Given the description of an element on the screen output the (x, y) to click on. 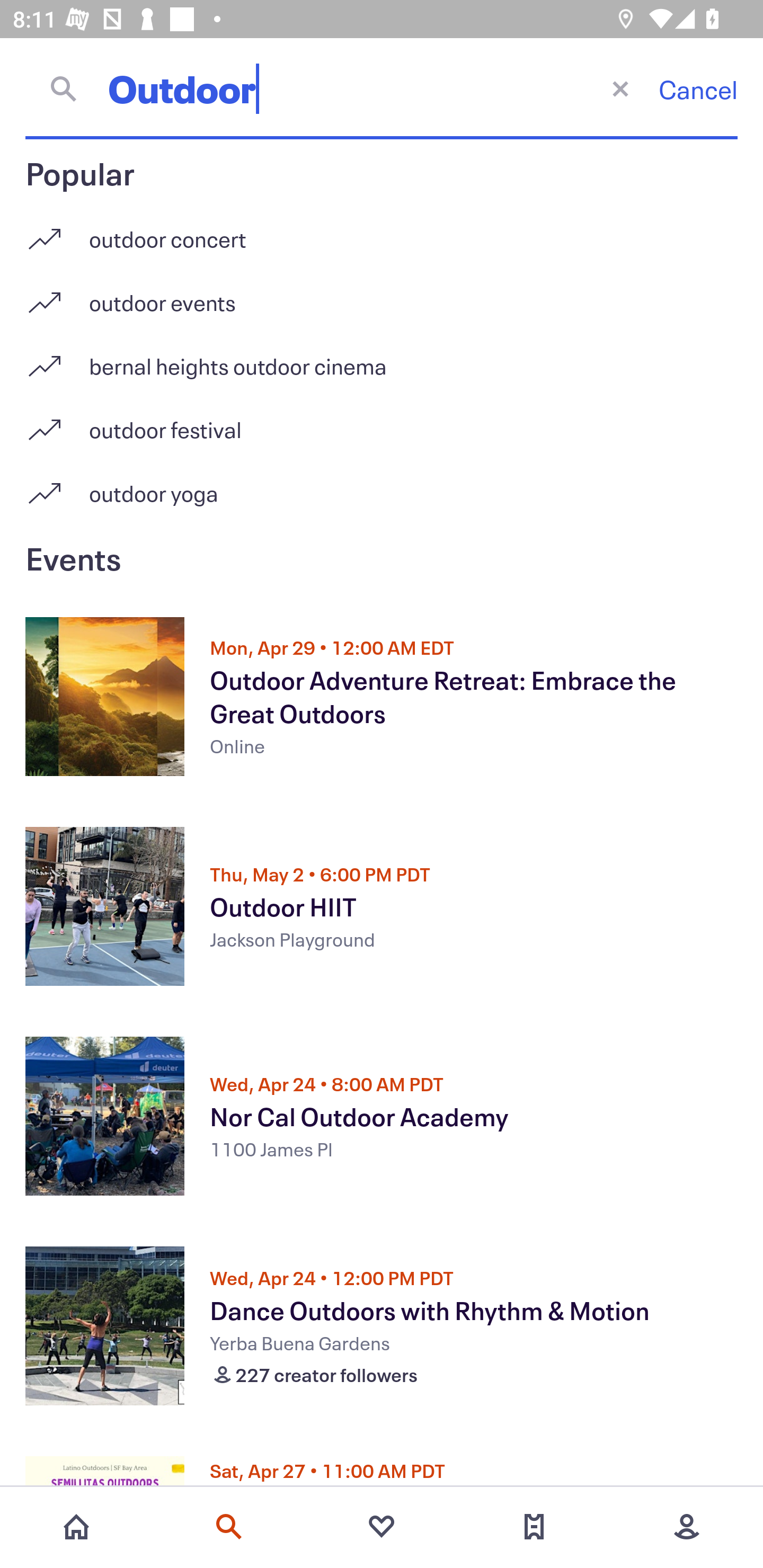
Outdoor Close current screen Cancel (381, 88)
Close current screen (620, 88)
Cancel (697, 89)
outdoor concert (381, 231)
outdoor events (381, 295)
bernal heights outdoor cinema (381, 358)
outdoor festival (381, 422)
outdoor yoga (381, 492)
Home (76, 1526)
Search events (228, 1526)
Favorites (381, 1526)
Tickets (533, 1526)
More (686, 1526)
